Given the description of an element on the screen output the (x, y) to click on. 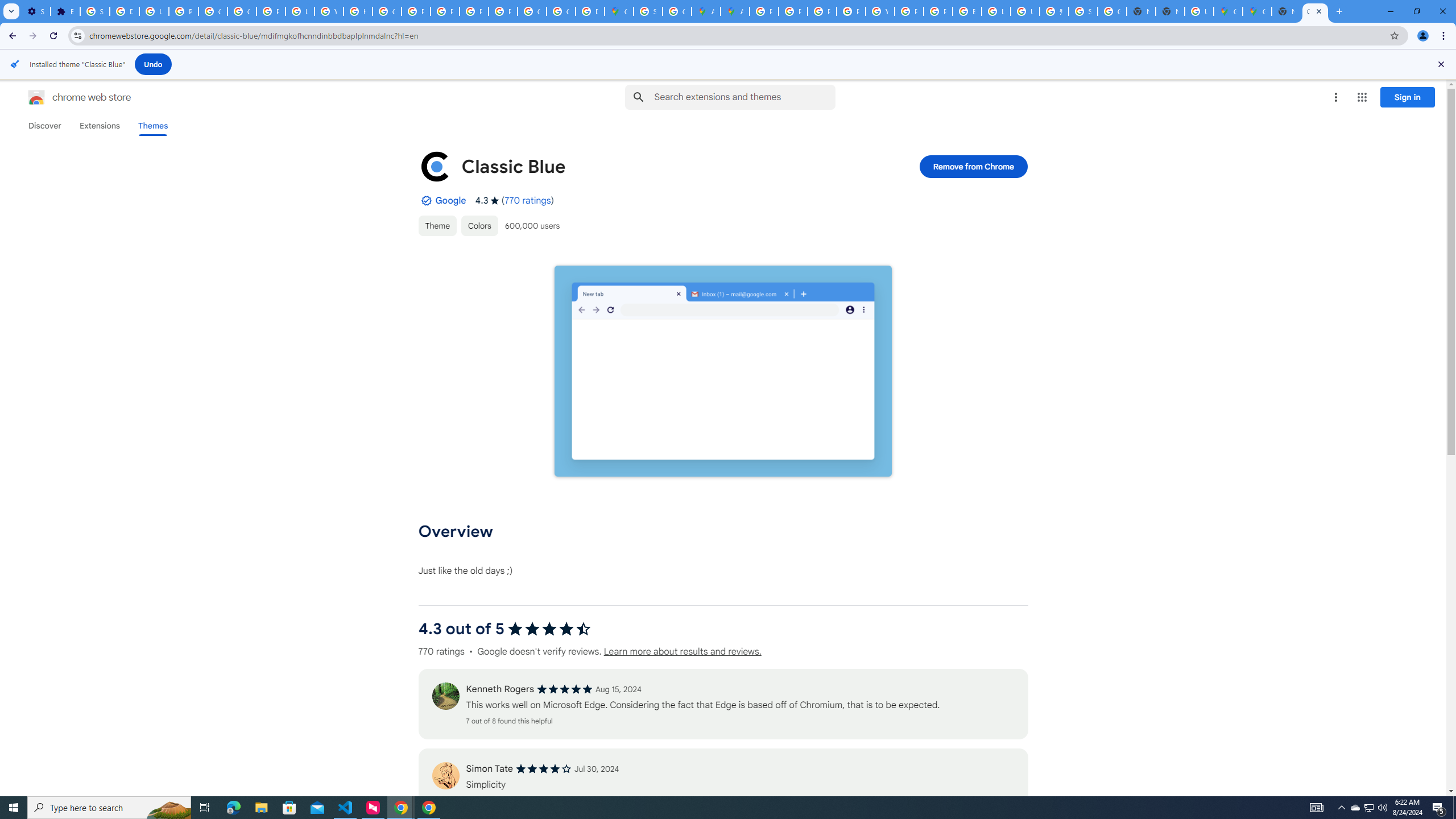
Sign in - Google Accounts (95, 11)
Learn more about results and reviews. (681, 651)
Privacy Help Center - Policies Help (415, 11)
New Tab (1286, 11)
Google Maps (1227, 11)
